Given the description of an element on the screen output the (x, y) to click on. 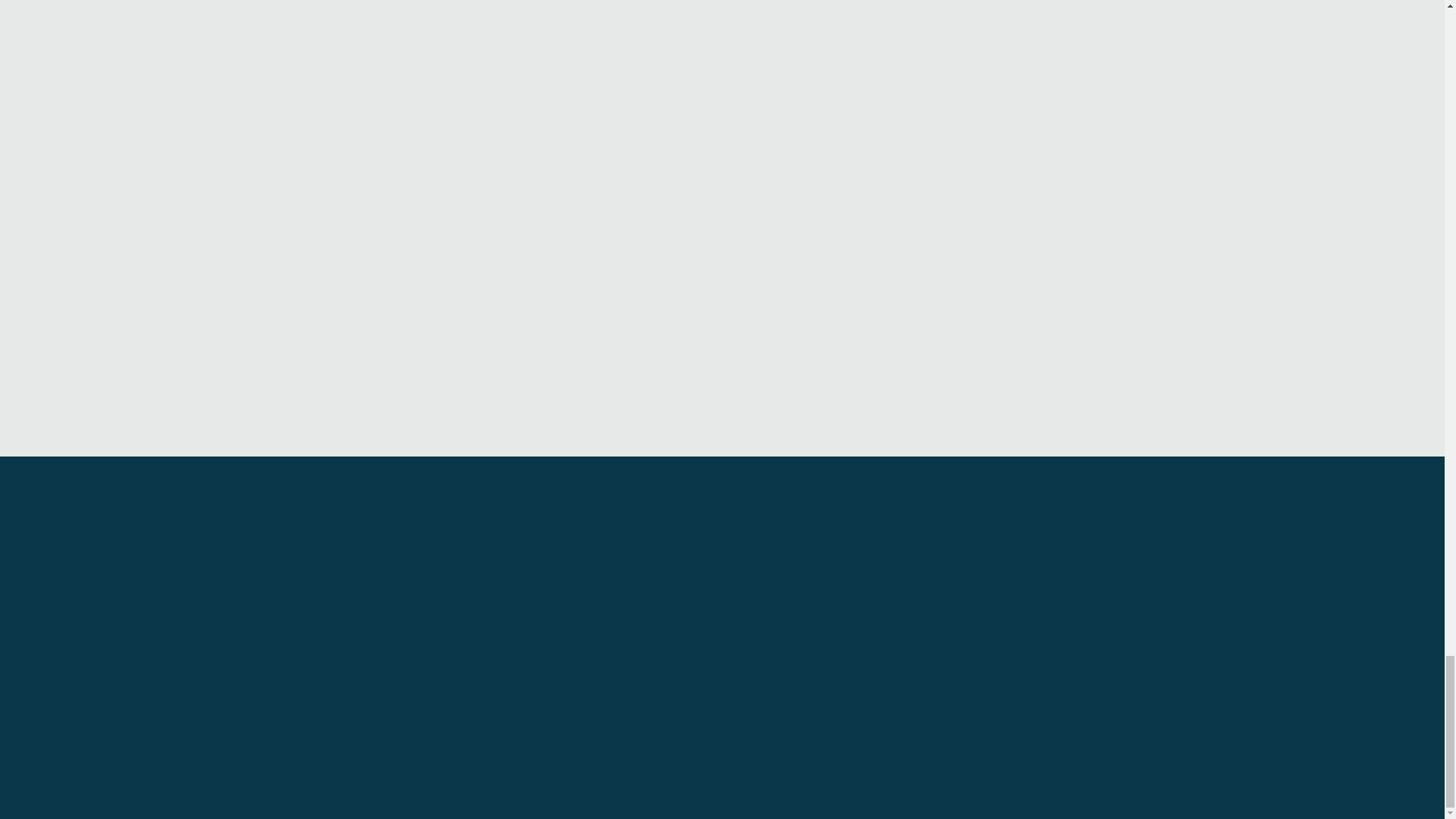
PRIVACY POLICY (1373, 799)
Get in touch (721, 630)
